Given the description of an element on the screen output the (x, y) to click on. 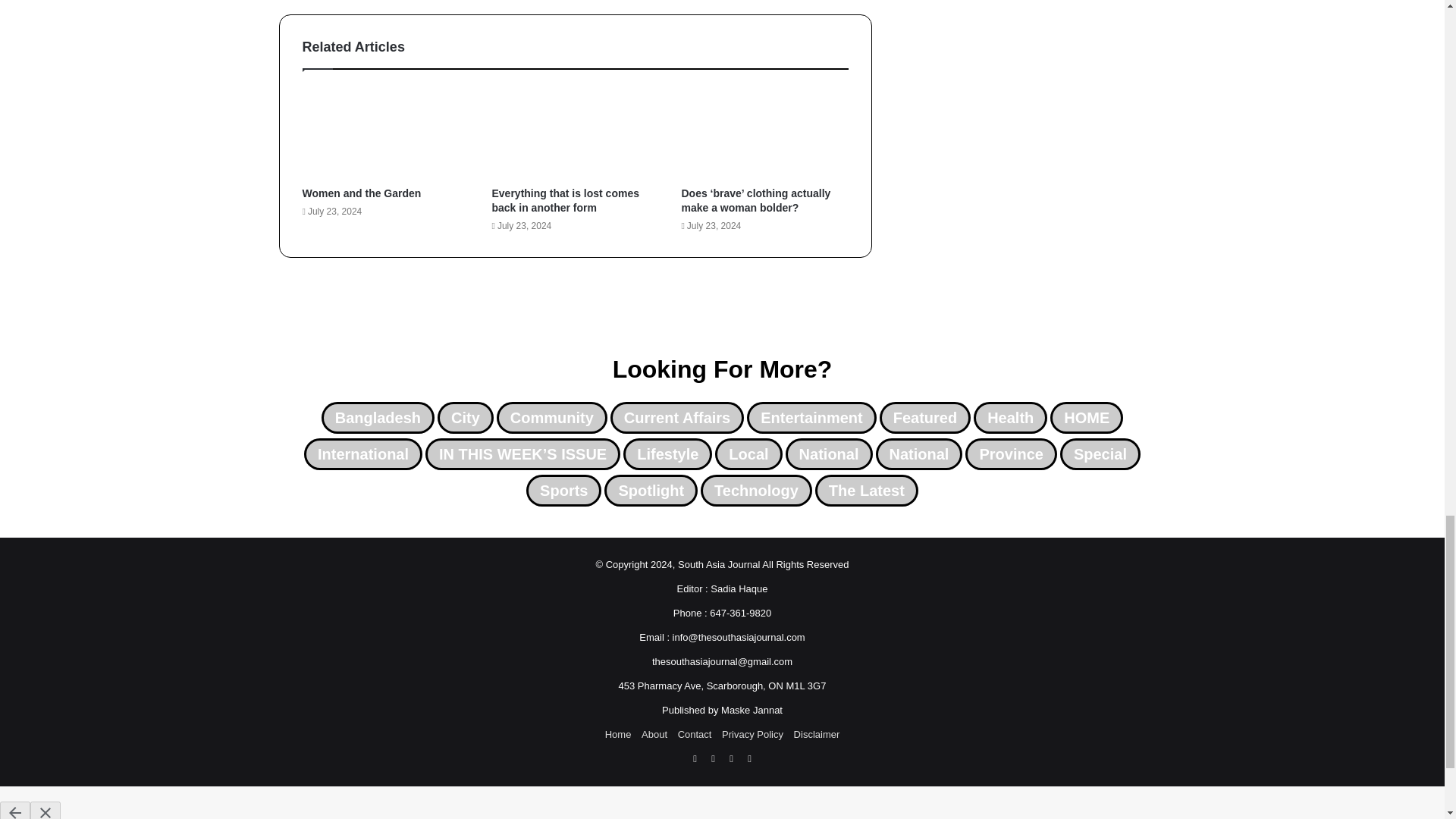
Everything that is lost comes back in another form (565, 200)
Women and the Garden (360, 193)
